Given the description of an element on the screen output the (x, y) to click on. 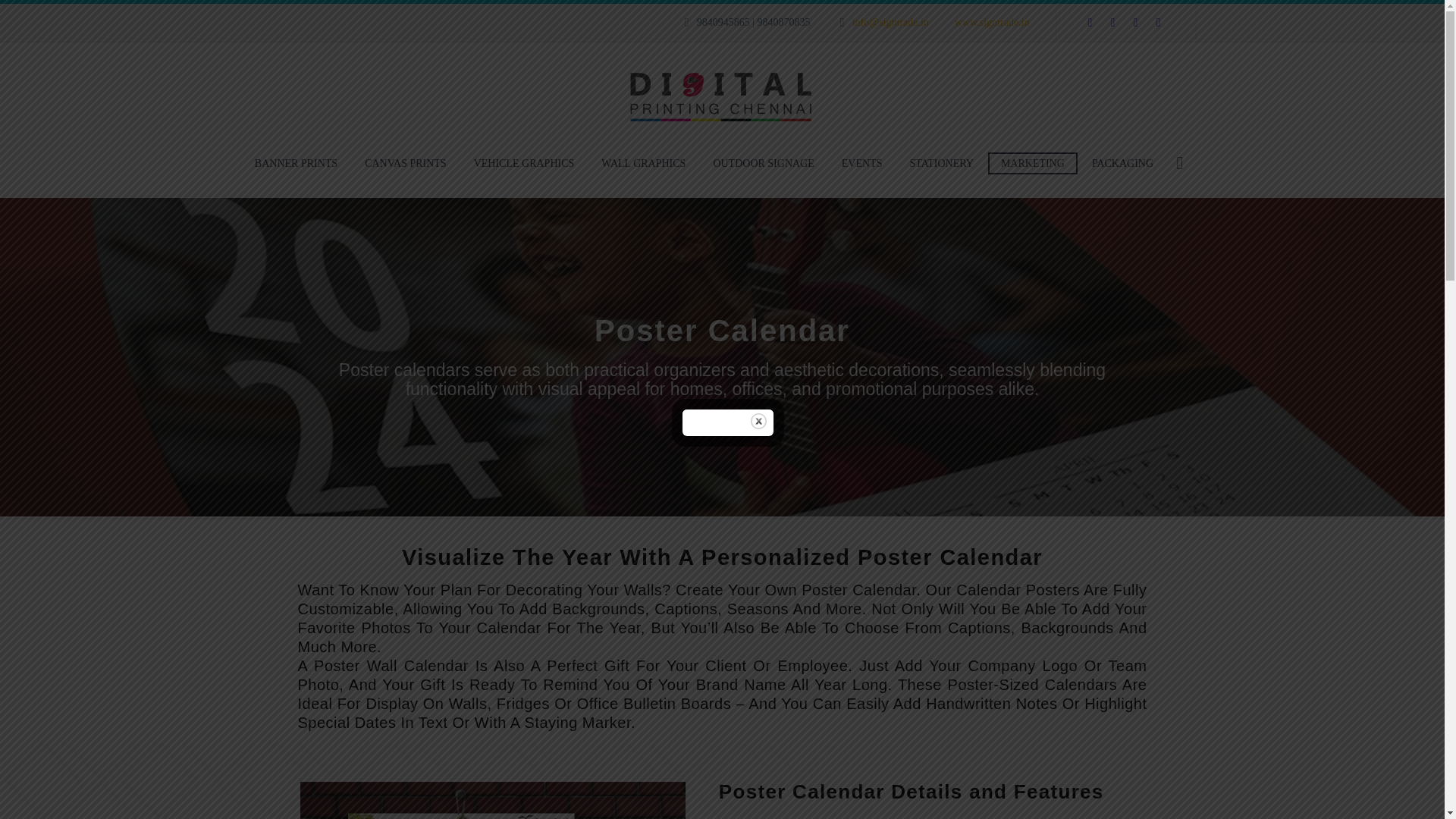
instagram (1135, 22)
CANVAS PRINTS (405, 162)
OUTDOOR SIGNAGE (763, 162)
VEHICLE GRAPHICS (524, 162)
STATIONERY (941, 162)
Close (759, 421)
www.signtrade.in (992, 21)
EVENTS (861, 162)
youtube (1158, 22)
WALL GRAPHICS (643, 162)
